Given the description of an element on the screen output the (x, y) to click on. 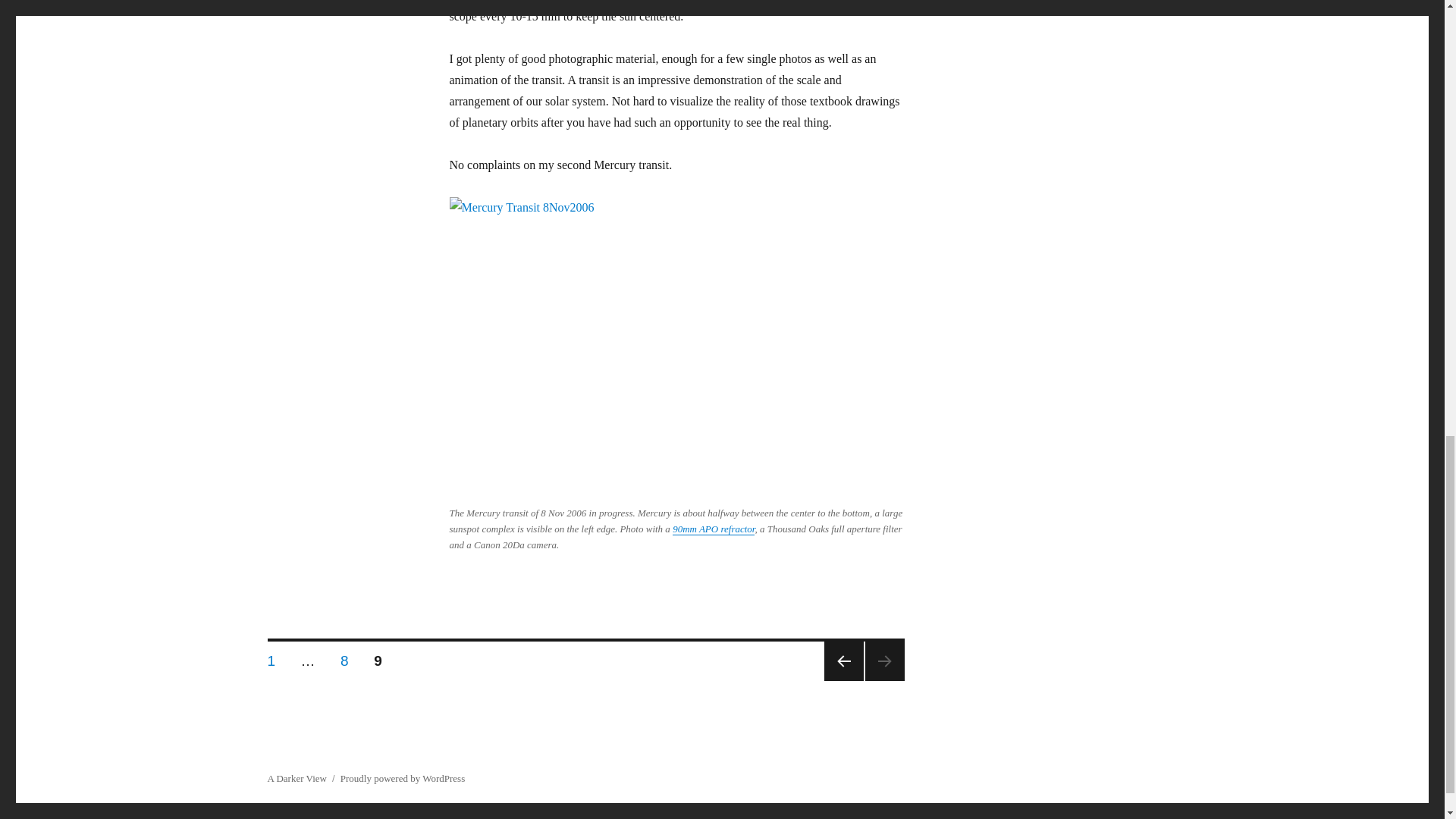
90mm APO refractor (713, 528)
PREVIOUS PAGE (843, 660)
